Given the description of an element on the screen output the (x, y) to click on. 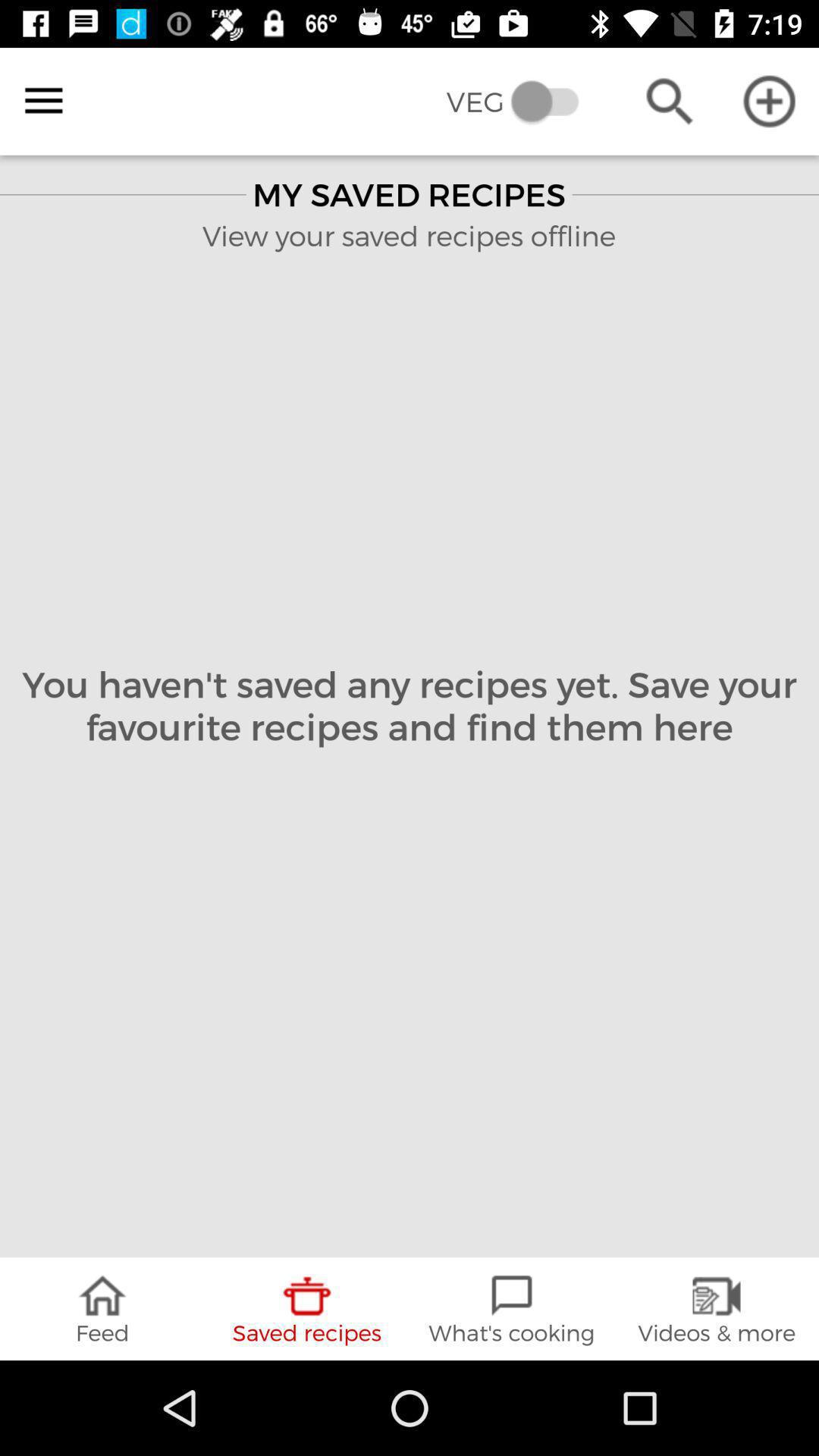
choose the icon to the left of veg icon (43, 101)
